Given the description of an element on the screen output the (x, y) to click on. 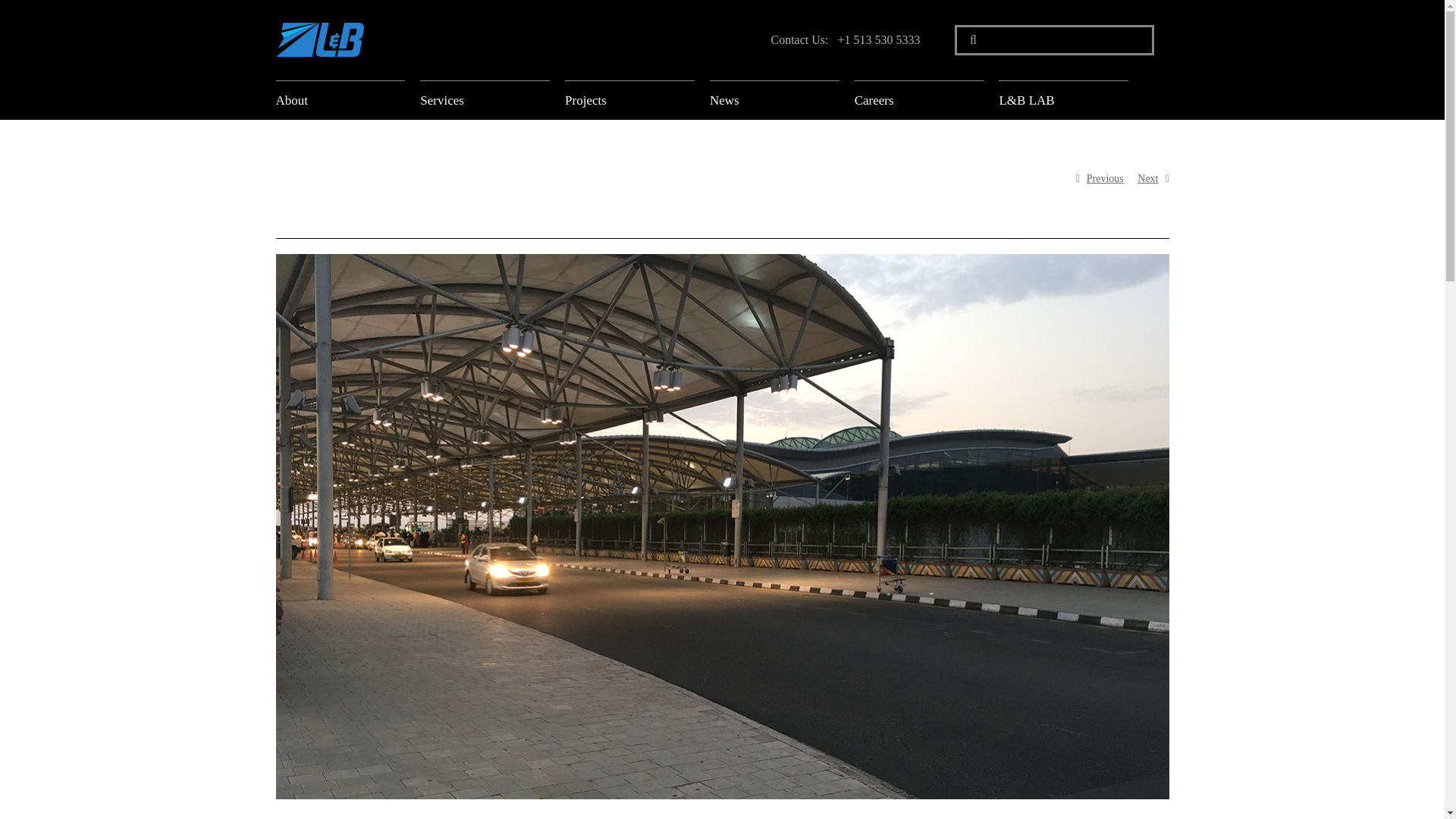
News (740, 99)
Previous (1105, 178)
Projects (595, 99)
About (306, 99)
Services (450, 99)
Contact Us (797, 39)
Careers (884, 99)
